Given the description of an element on the screen output the (x, y) to click on. 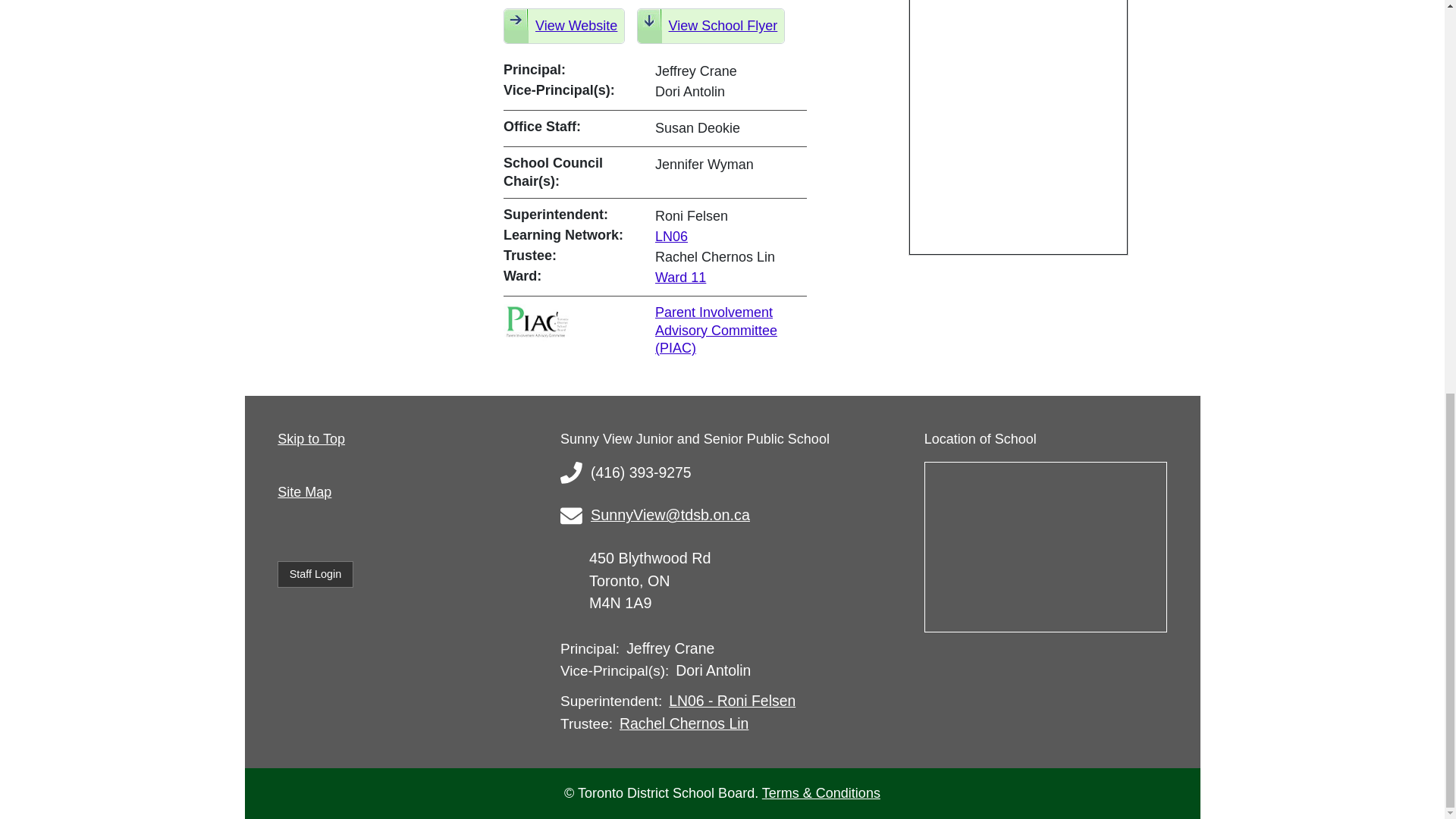
School Map for Sunny View Junior and Senior Public School (1045, 556)
Sunny View Junior and Senior Public School Flyer  (711, 26)
View Sunny View Junior and Senior Public School Website (563, 26)
